Given the description of an element on the screen output the (x, y) to click on. 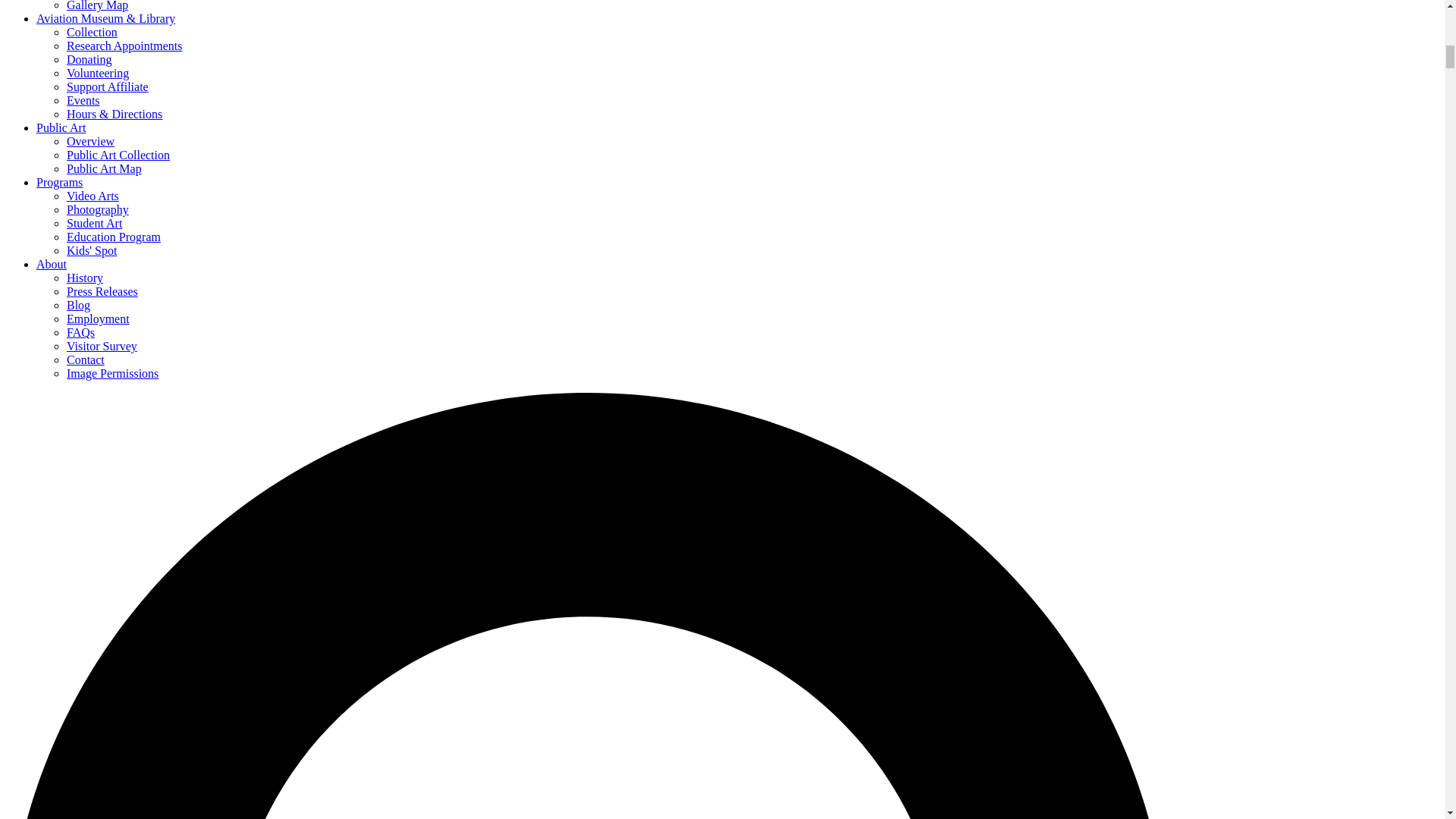
Public Art (60, 127)
Public Art Map (103, 168)
Kids' Spot (91, 250)
FAQs (80, 332)
Image Permissions (112, 373)
Student Art (94, 223)
Events (83, 100)
Donating (89, 59)
Public Art Collection (118, 154)
Video Arts (92, 195)
Press Releases (102, 291)
Education Program (113, 236)
Gallery Map (97, 5)
Collection (91, 31)
Volunteering (97, 72)
